Given the description of an element on the screen output the (x, y) to click on. 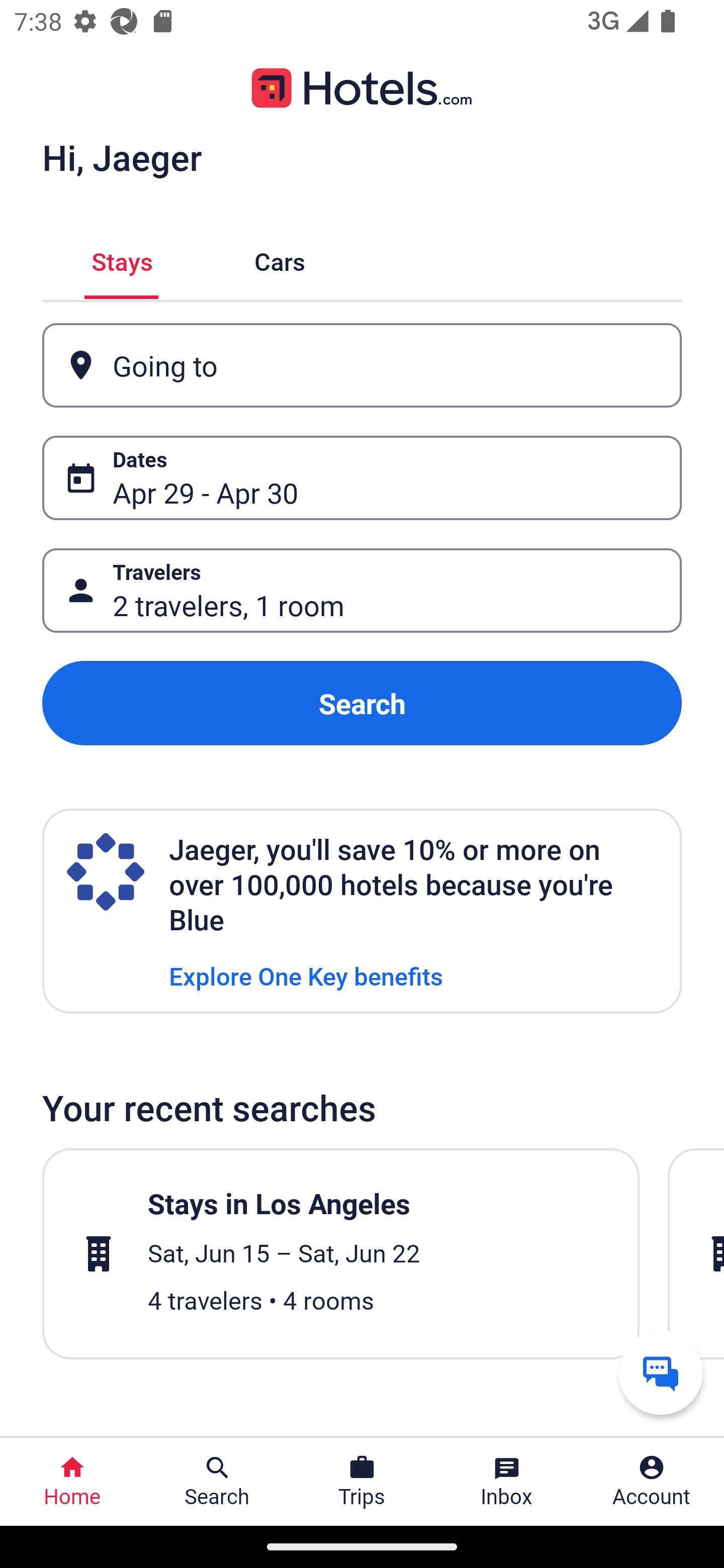
Hi, Jaeger (121, 156)
Cars (279, 259)
Going to Button (361, 365)
Dates Button Apr 29 - Apr 30 (361, 477)
Travelers Button 2 travelers, 1 room (361, 590)
Search (361, 702)
Get help from a virtual agent (660, 1371)
Search Search Button (216, 1481)
Trips Trips Button (361, 1481)
Inbox Inbox Button (506, 1481)
Account Profile. Button (651, 1481)
